Given the description of an element on the screen output the (x, y) to click on. 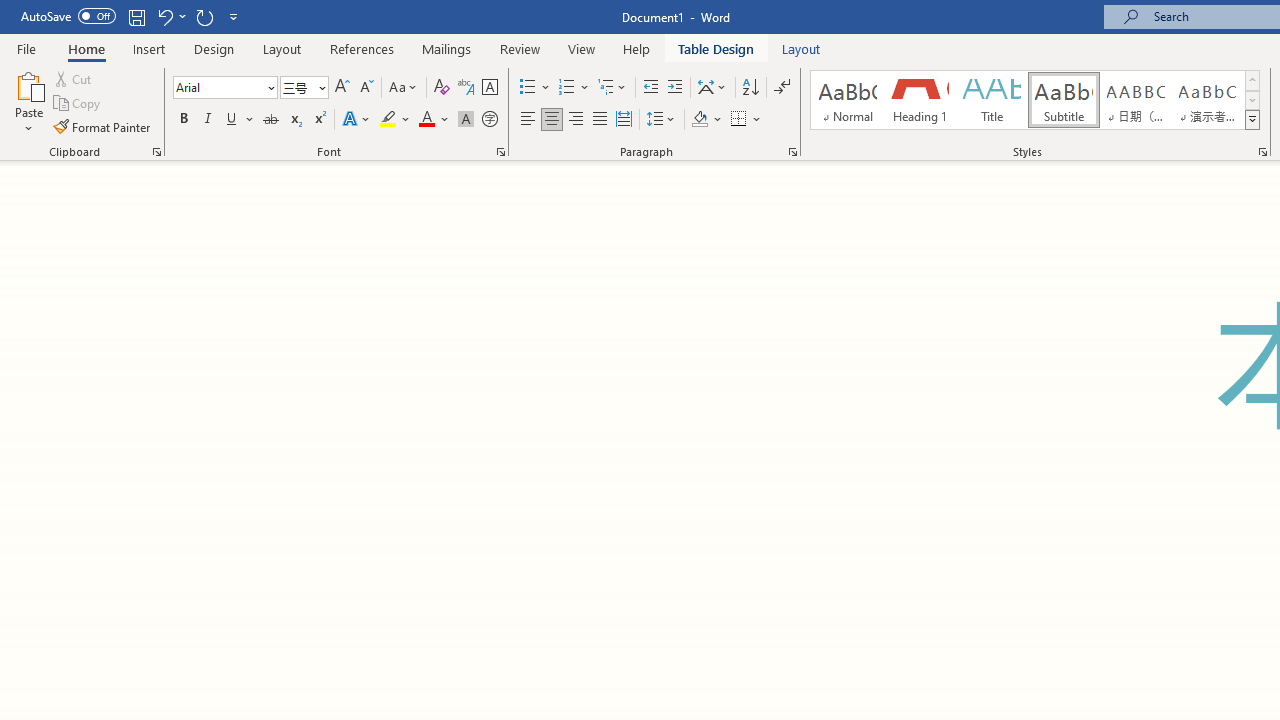
Align Left (527, 119)
Show/Hide Editing Marks (781, 87)
Character Shading (465, 119)
Font Color (434, 119)
Clear Formatting (442, 87)
Shrink Font (365, 87)
Styles (1252, 120)
Shading RGB(0, 0, 0) (699, 119)
Line and Paragraph Spacing (661, 119)
Row up (1252, 79)
Office Clipboard... (156, 151)
